Given the description of an element on the screen output the (x, y) to click on. 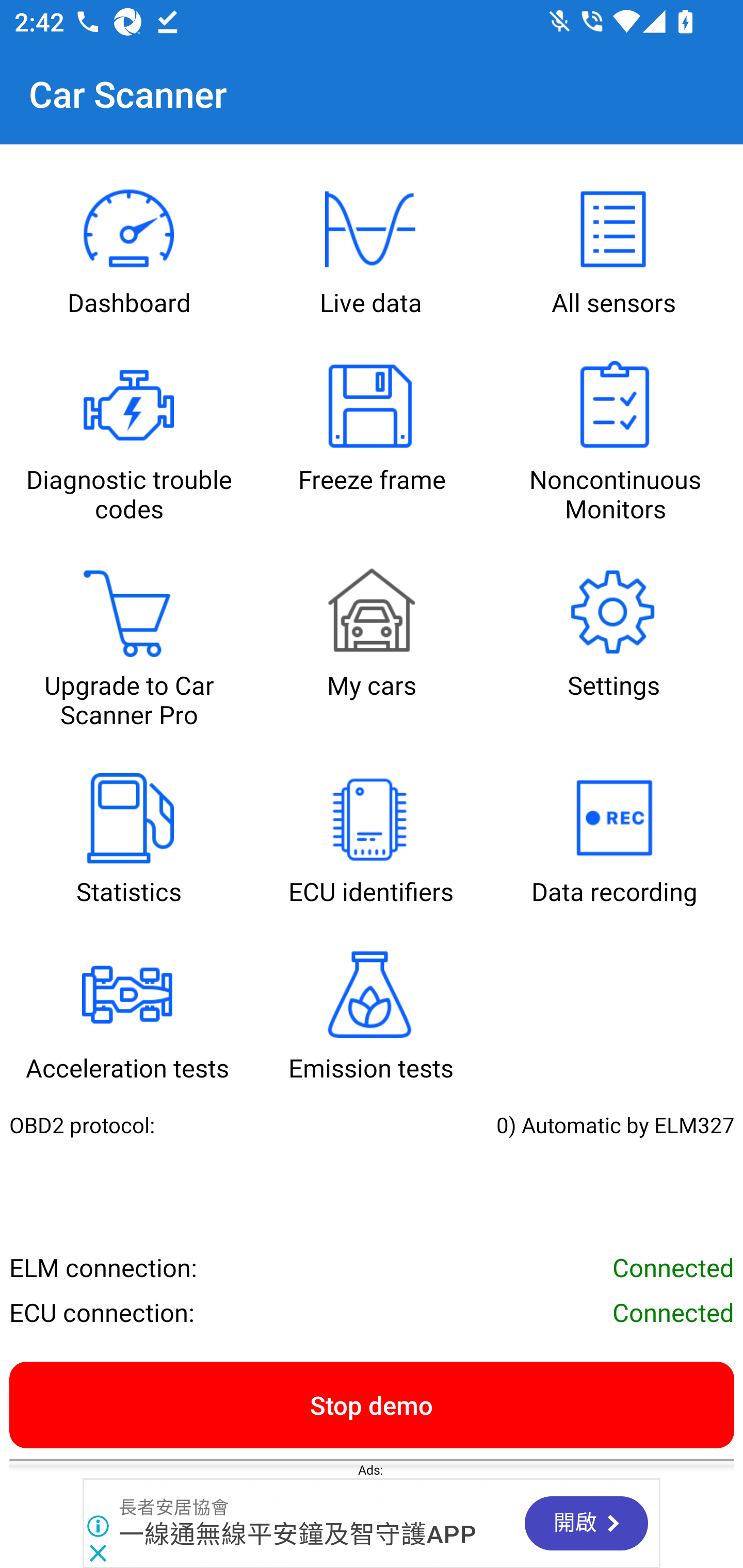
Stop demo (371, 1404)
長者安居協會 (174, 1507)
開啟 (586, 1522)
一線通無線平安鐘及智守護APP (297, 1533)
